Given the description of an element on the screen output the (x, y) to click on. 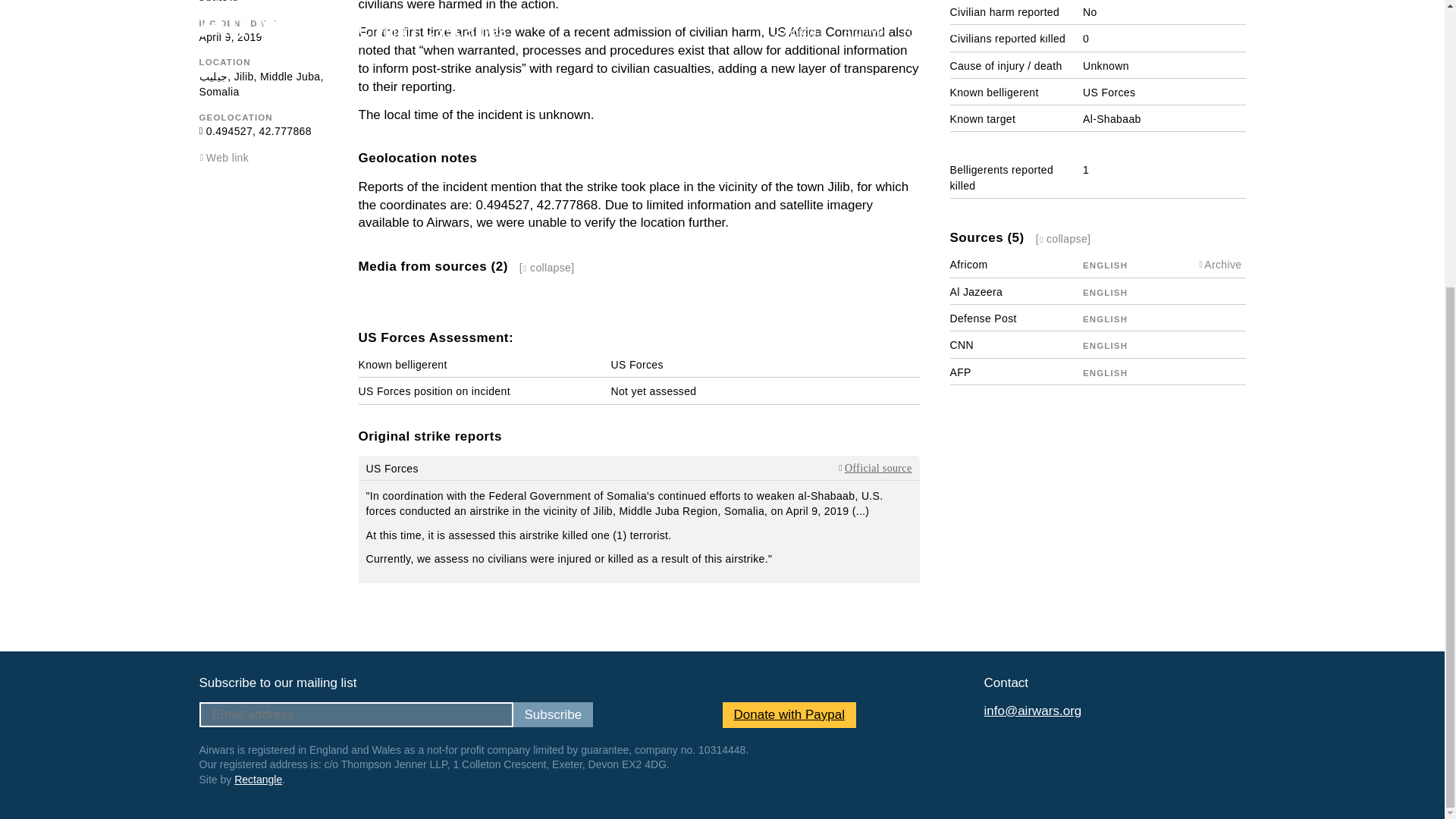
Subscribe (552, 714)
Official source (860, 468)
Web link (227, 157)
Africom (968, 264)
